Given the description of an element on the screen output the (x, y) to click on. 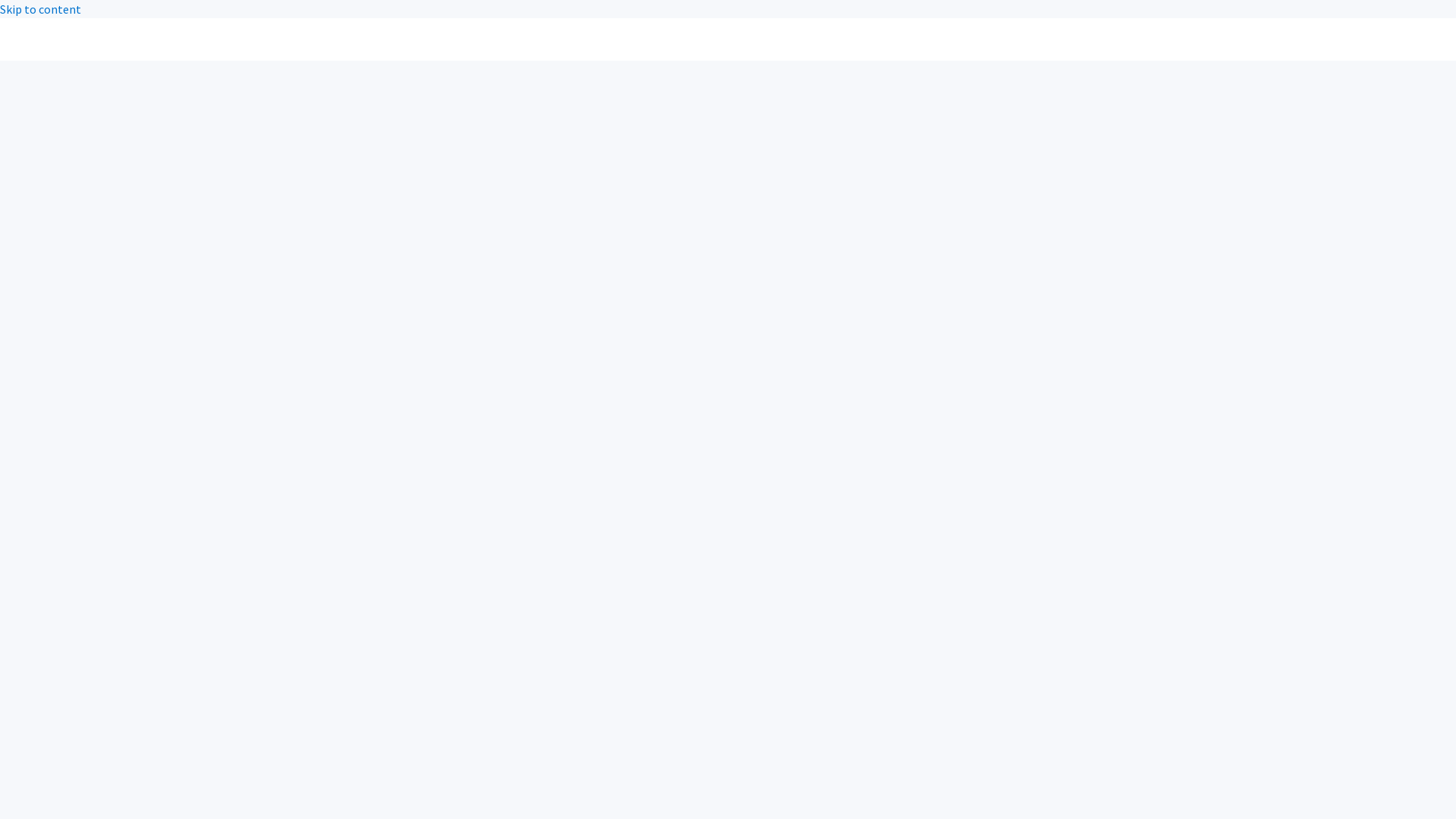
Skip to content Element type: text (40, 8)
